Given the description of an element on the screen output the (x, y) to click on. 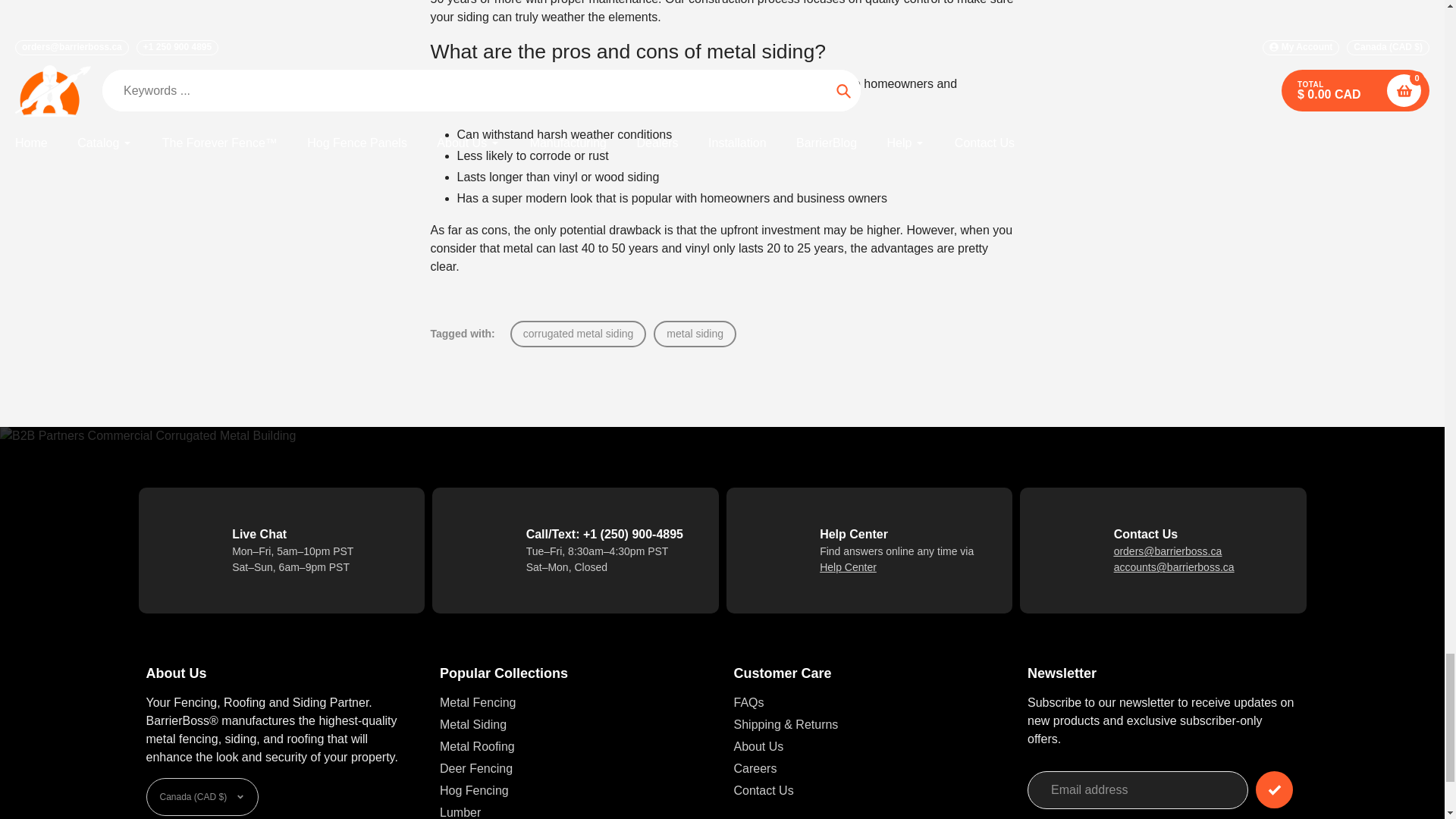
Contact Us (1168, 551)
Contact Us (847, 567)
Show articles tagged corrugated metal siding (577, 333)
Show articles tagged metal siding (694, 333)
